Given the description of an element on the screen output the (x, y) to click on. 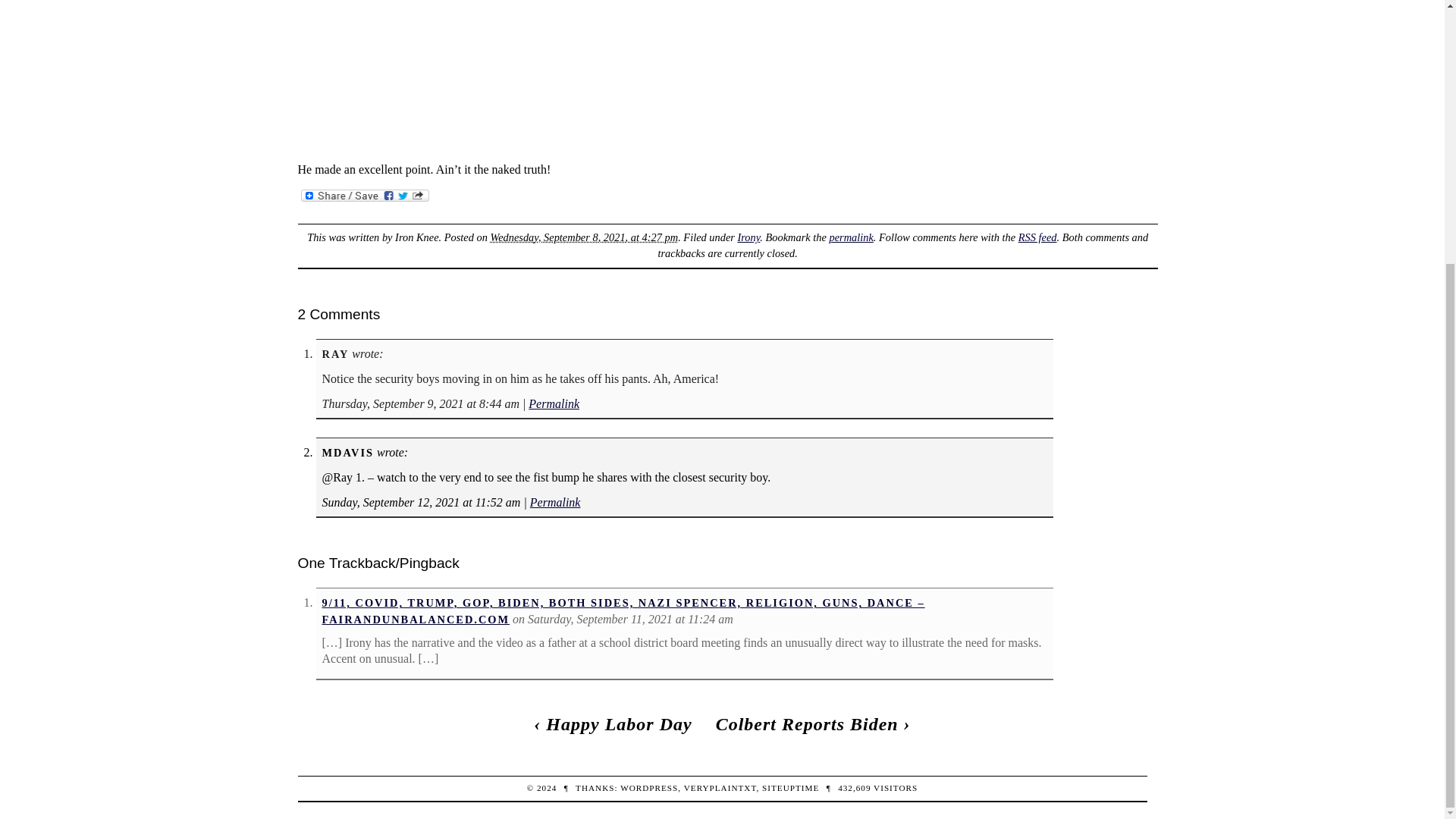
Happy Labor Day (618, 723)
Comments RSS to Naked Mask Avenger! (1037, 236)
Permalink to Naked Mask Avenger! (850, 236)
2021-09-08T16:27:59-0600 (583, 236)
Irony (748, 236)
Permalink (553, 403)
Permalink to this comment (553, 403)
Colbert Reports Biden (807, 723)
RSS feed (1037, 236)
Permalink to this comment (554, 502)
Permalink (554, 502)
permalink (850, 236)
